Given the description of an element on the screen output the (x, y) to click on. 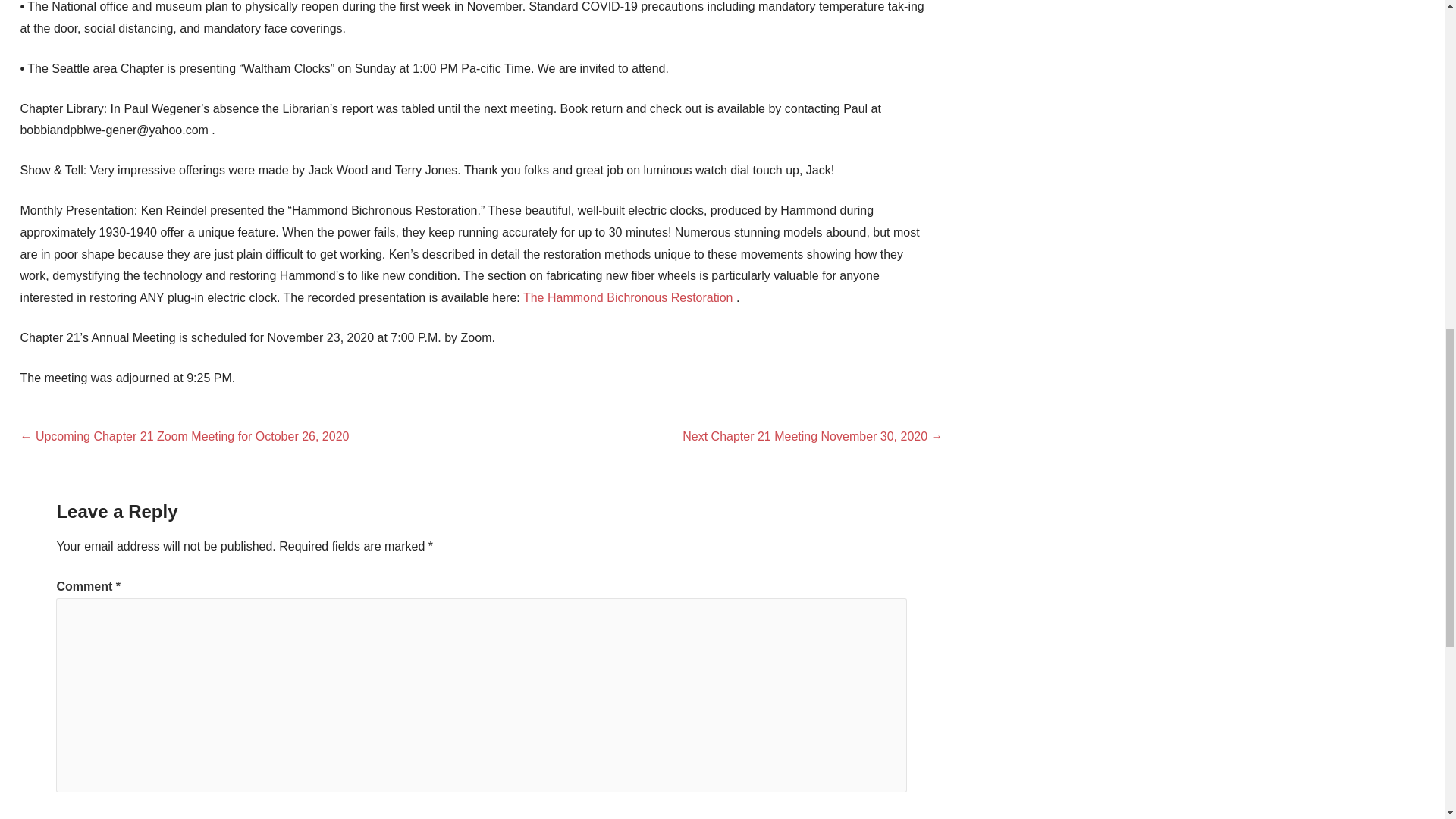
The Hammond Bichronous Restoration (627, 297)
